Given the description of an element on the screen output the (x, y) to click on. 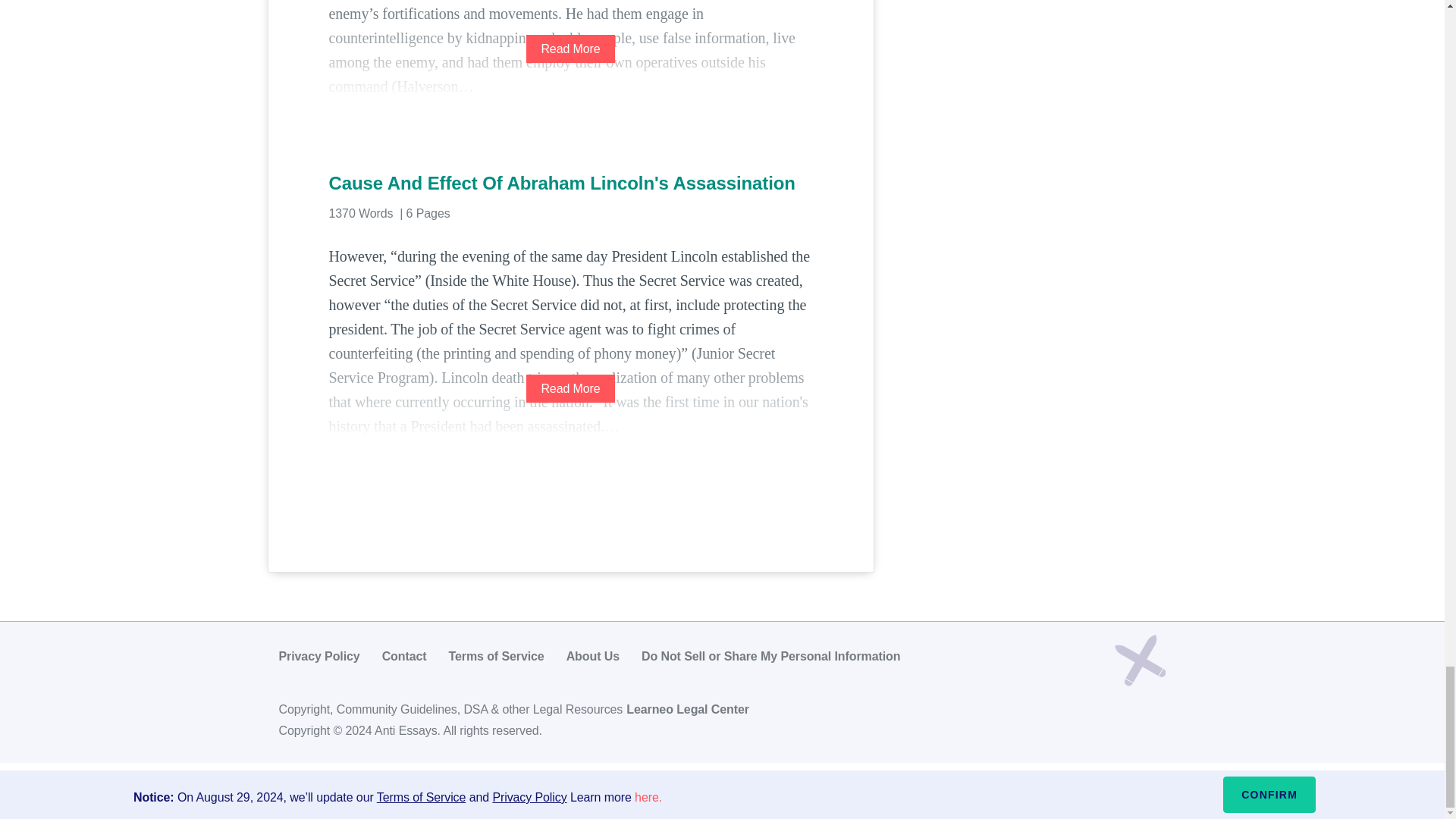
Cause And Effect Of Abraham Lincoln's Assassination (570, 183)
Read More (569, 388)
Contact (403, 656)
Read More (569, 49)
Privacy Policy (319, 656)
Terms of Service (495, 656)
